Given the description of an element on the screen output the (x, y) to click on. 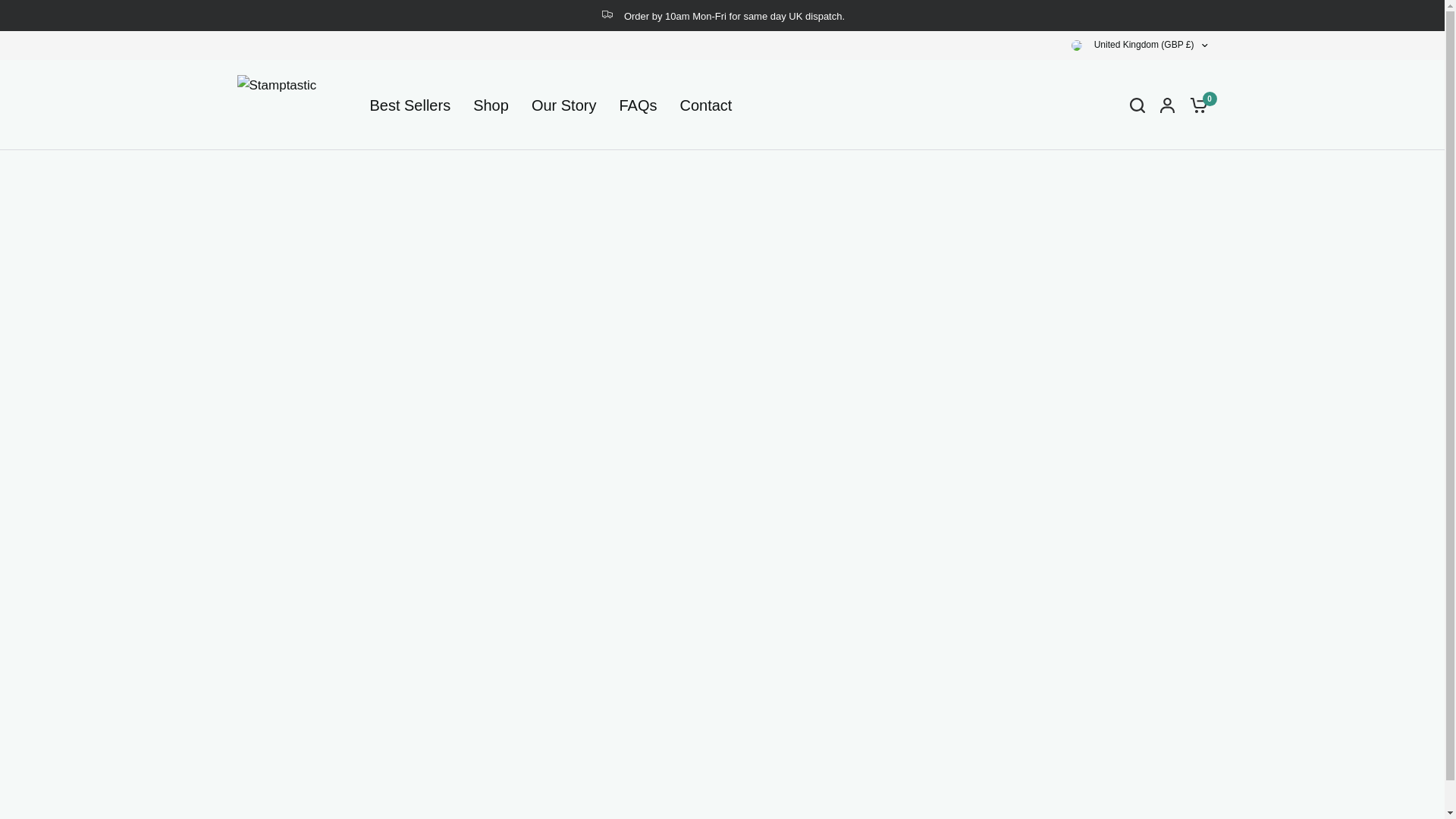
Search (1137, 104)
My Account (1167, 104)
